Given the description of an element on the screen output the (x, y) to click on. 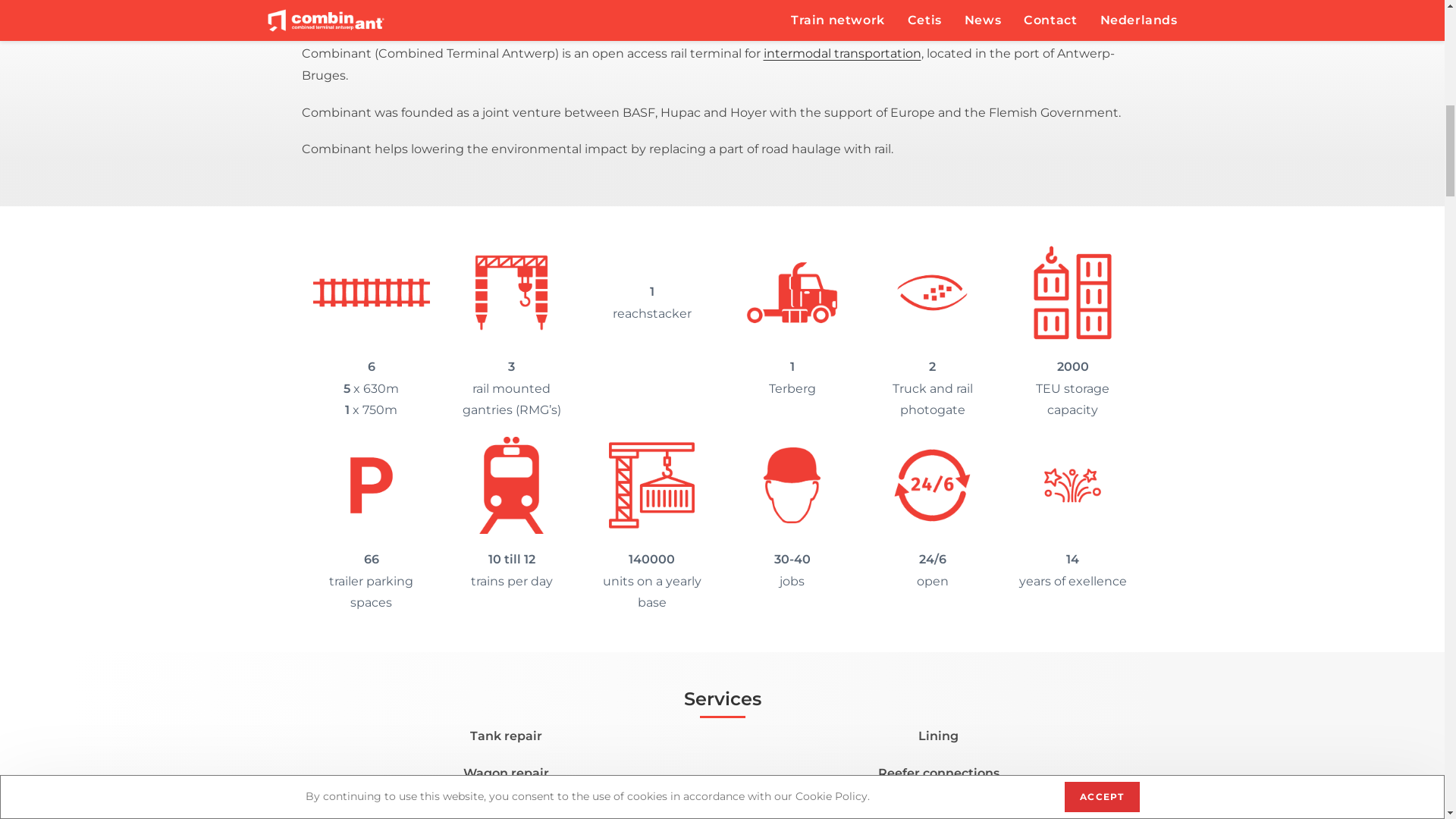
Learn more  Element type: text (721, 453)
